Given the description of an element on the screen output the (x, y) to click on. 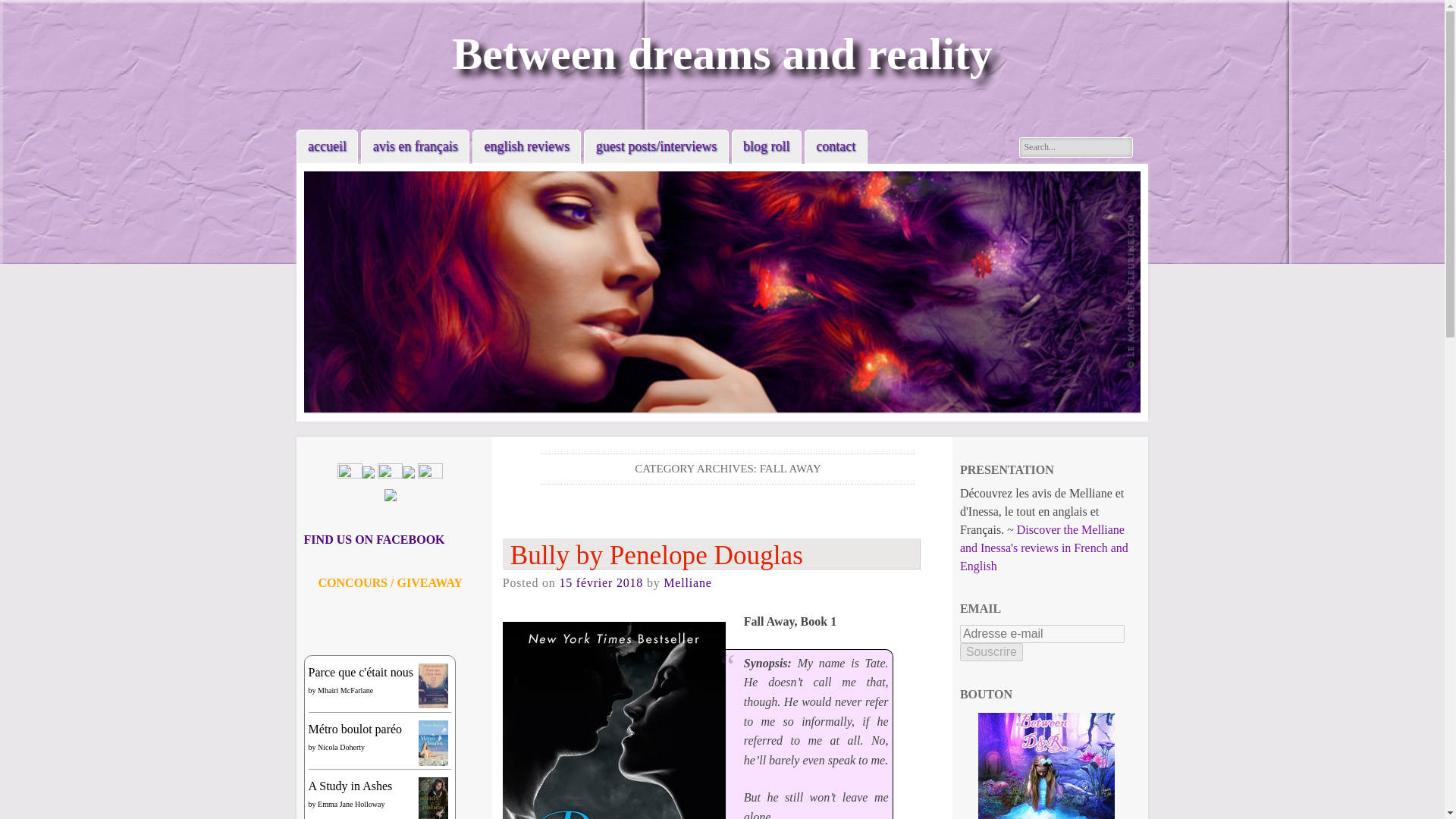
accueil (327, 146)
english reviews (526, 146)
Search (24, 9)
Between dreams and reality (721, 53)
contact (835, 146)
Melliane (687, 582)
10 h 40 min (601, 582)
FIND US ON FACEBOOK (374, 539)
Between dreams and reality (721, 53)
View all posts by Melliane (687, 582)
Permalink to Bully by Penelope Douglas (711, 553)
Bully by Penelope Douglas (711, 553)
blog roll (766, 146)
